Given the description of an element on the screen output the (x, y) to click on. 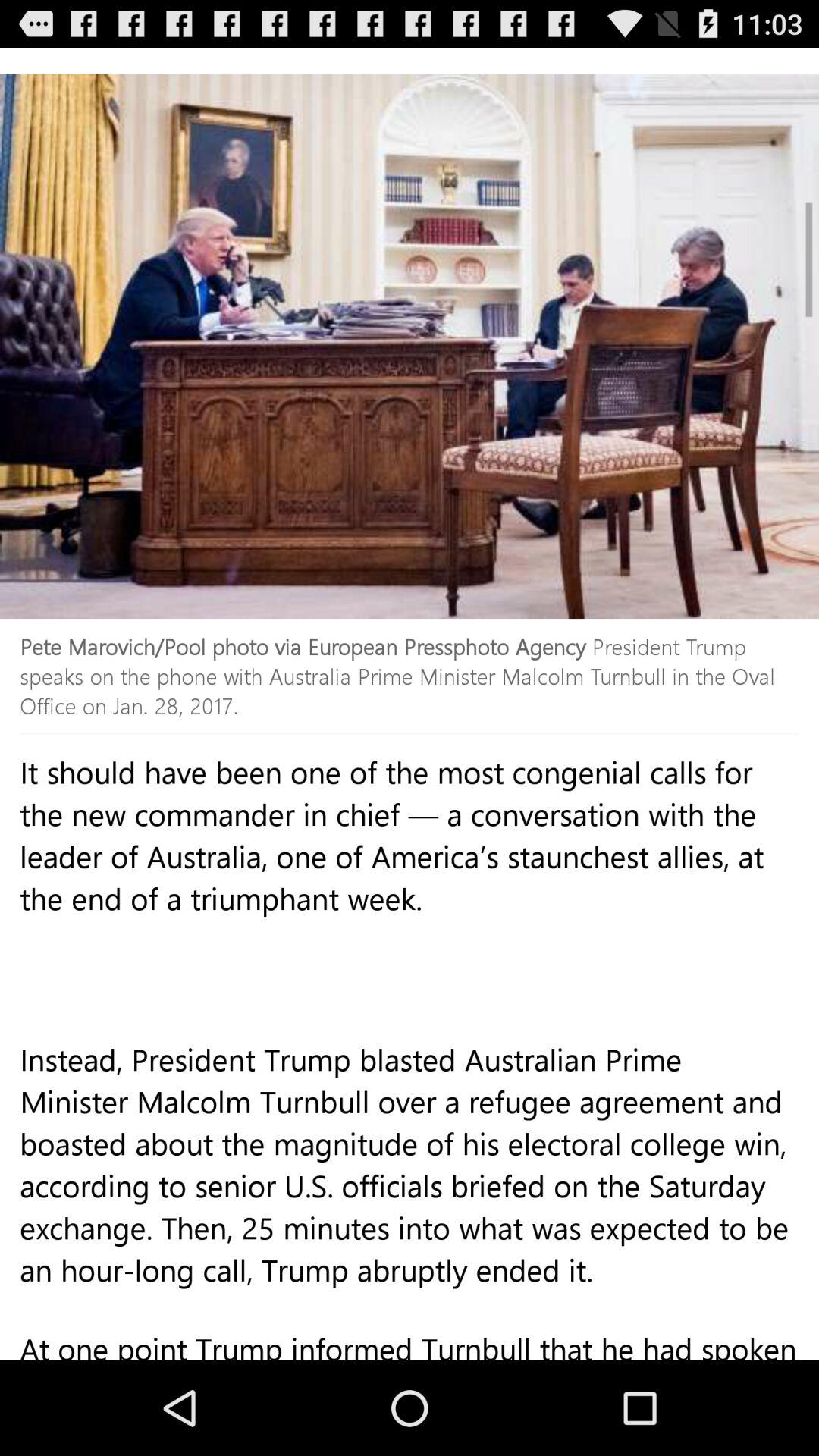
scroll to at one point (409, 1351)
